Given the description of an element on the screen output the (x, y) to click on. 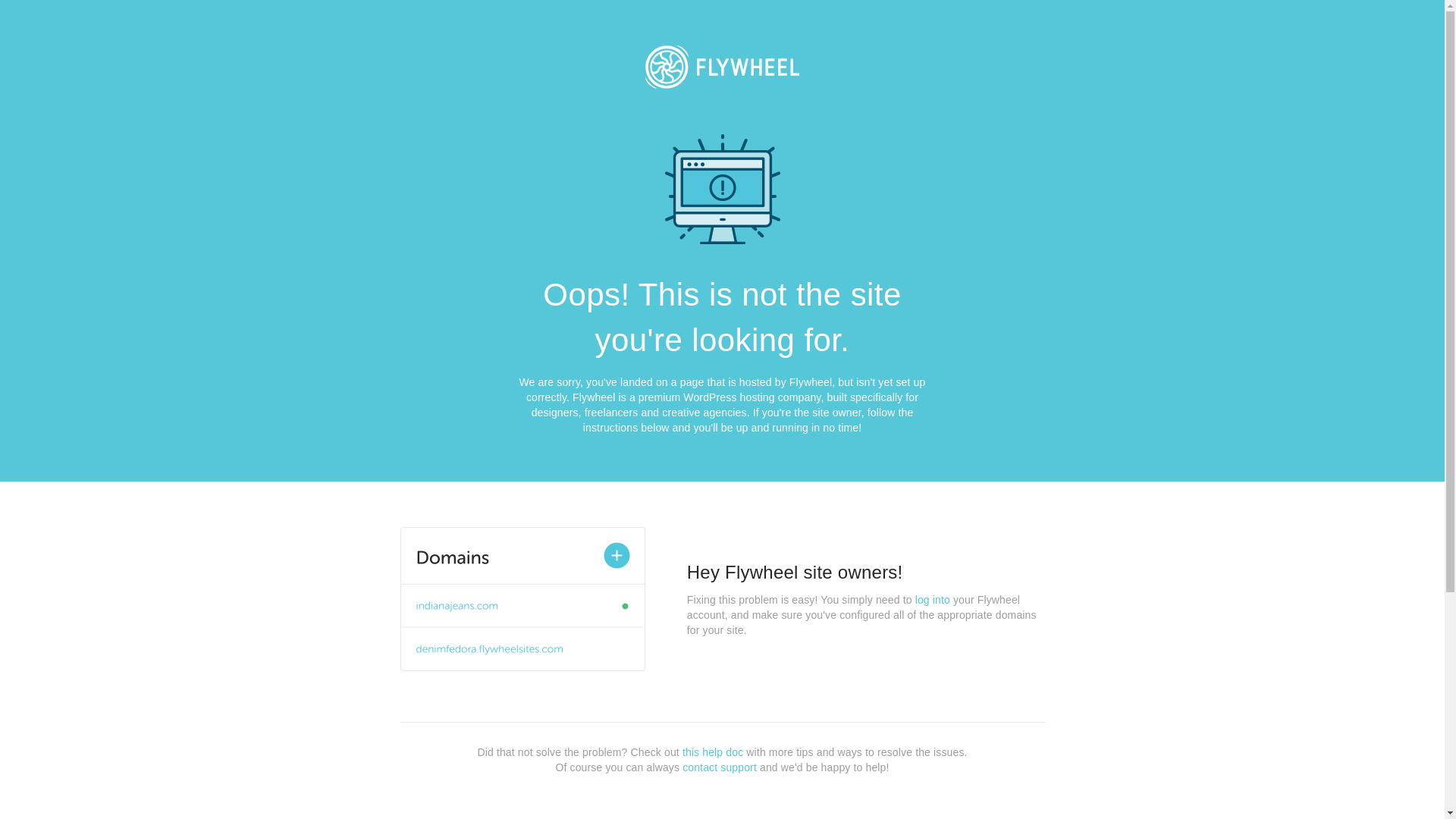
log into Element type: text (932, 599)
this help doc Element type: text (712, 752)
contact support Element type: text (719, 767)
